Given the description of an element on the screen output the (x, y) to click on. 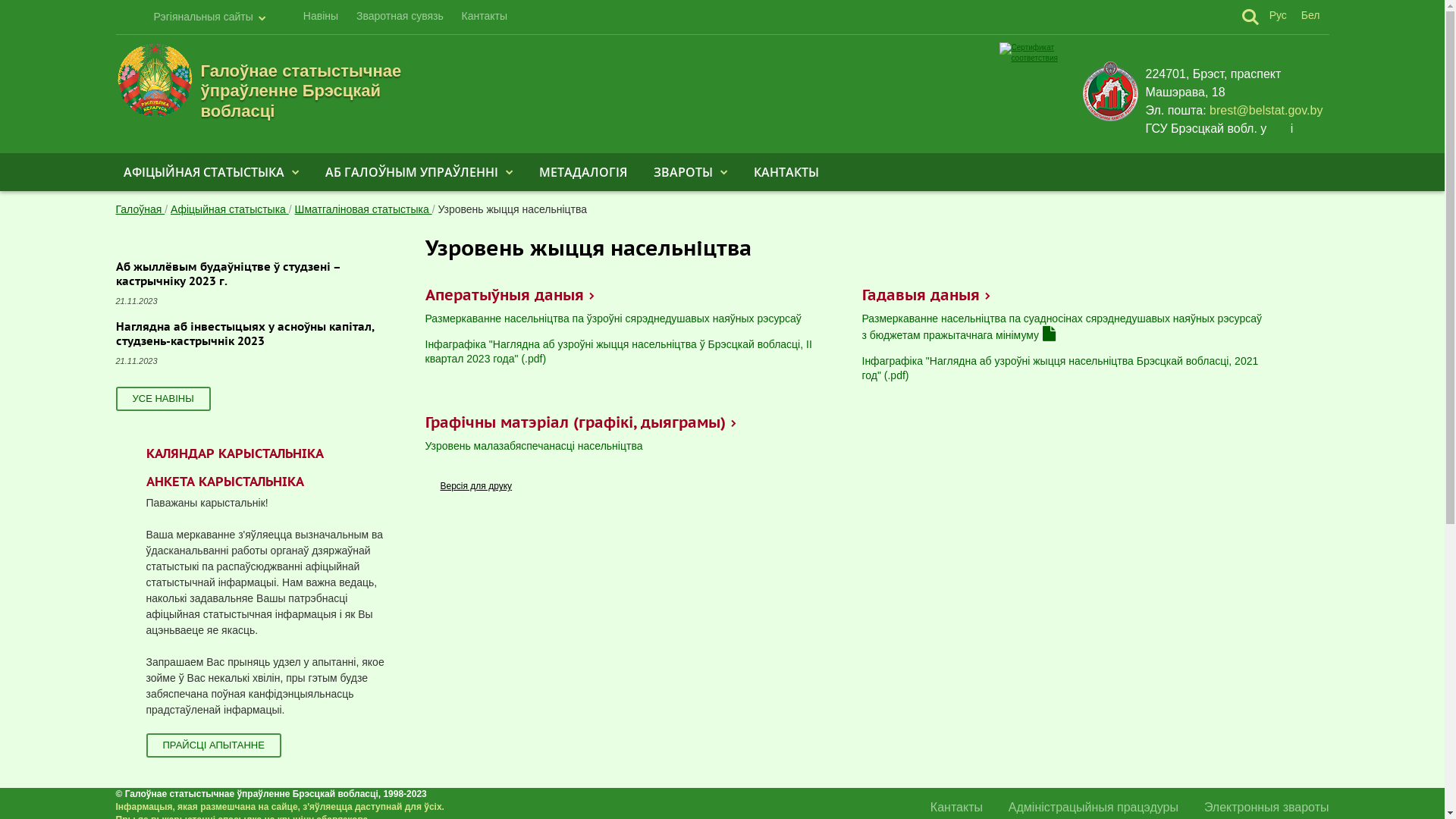
brest@belstat.gov.by Element type: text (1265, 110)
